Given the description of an element on the screen output the (x, y) to click on. 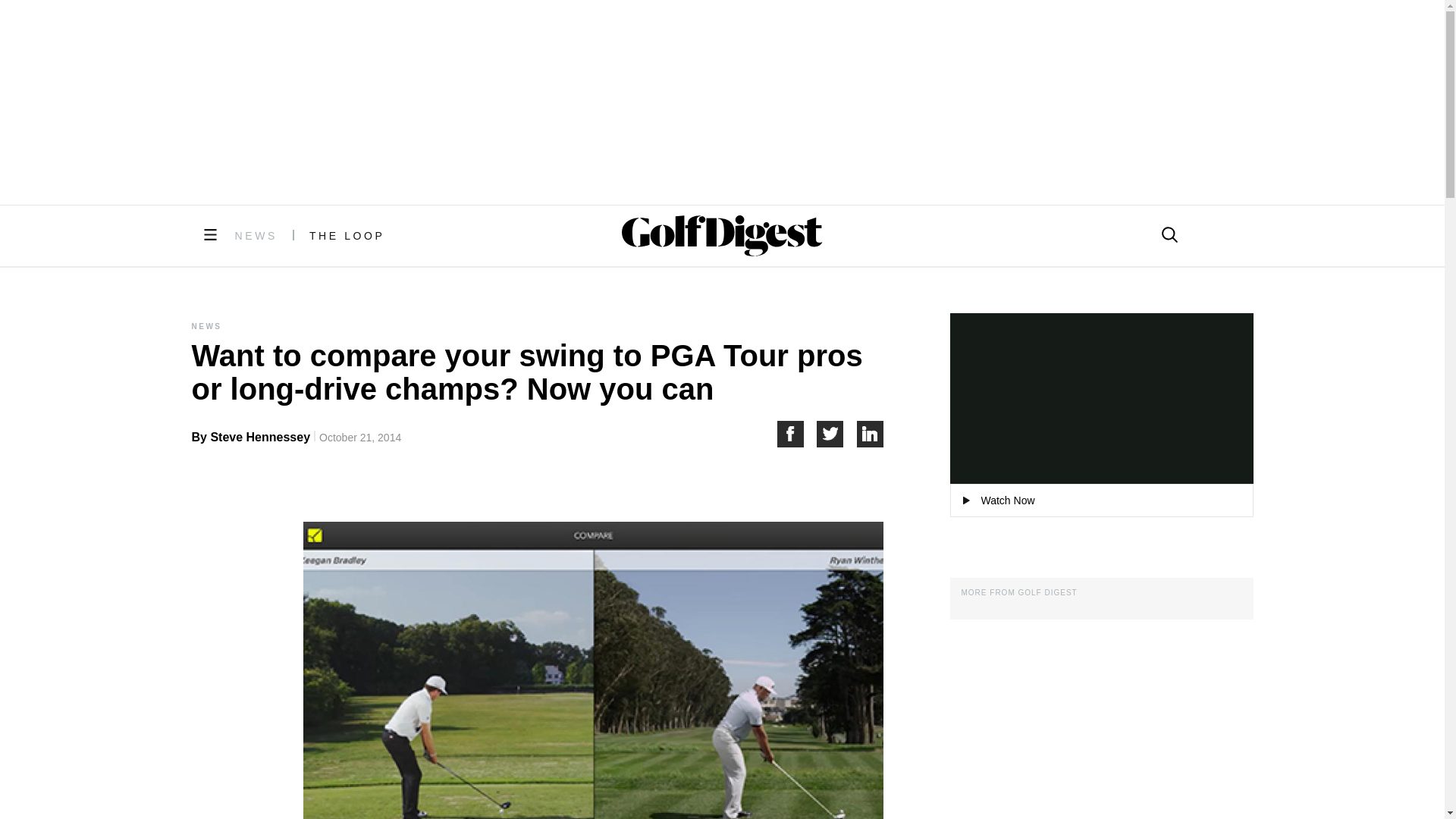
NEWS (256, 235)
Share on Twitter (836, 433)
THE LOOP (346, 235)
Share on Facebook (796, 433)
Share on LinkedIn (870, 433)
